Given the description of an element on the screen output the (x, y) to click on. 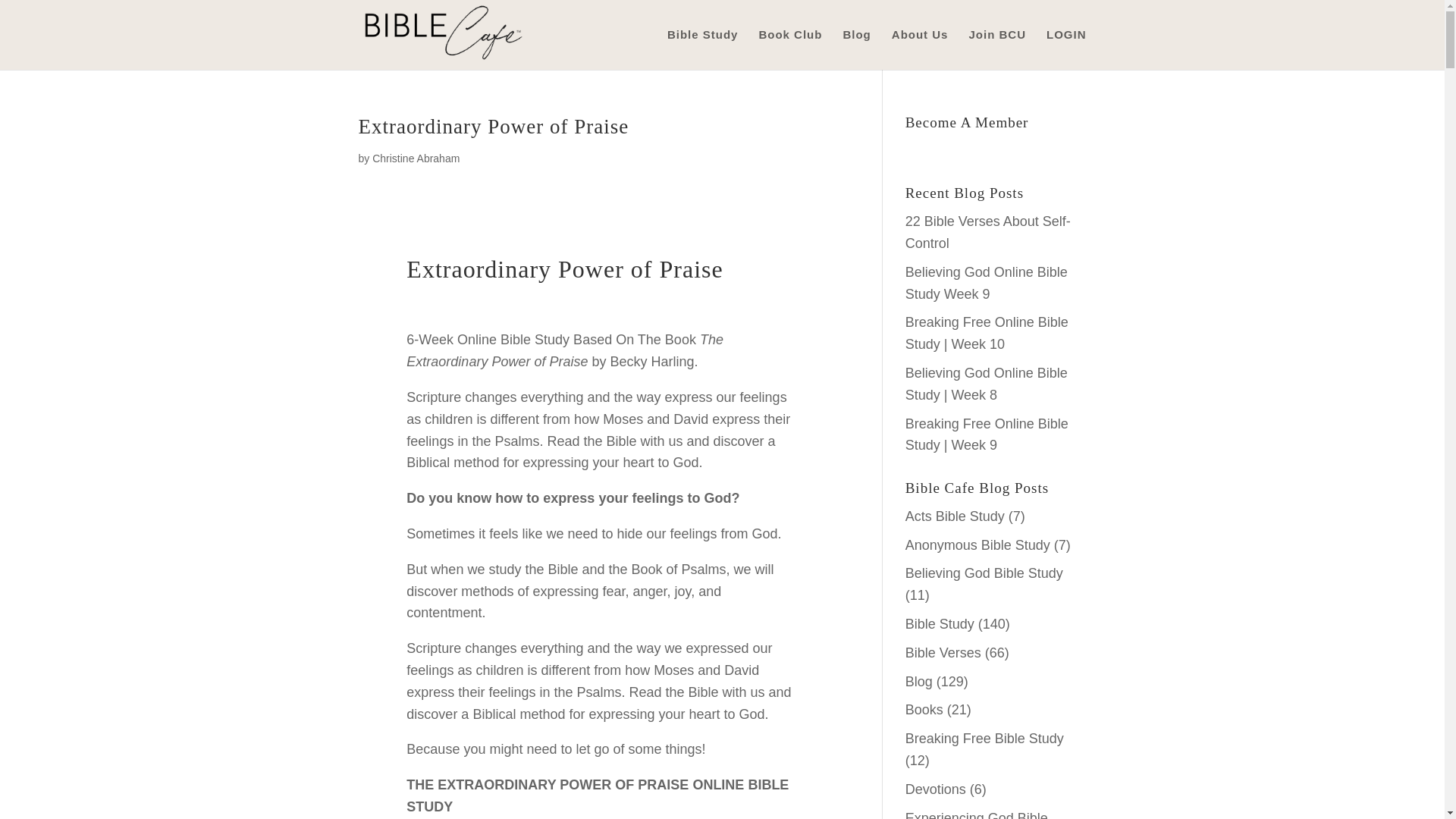
Anonymous Bible Study (977, 544)
Books (924, 709)
Blog (919, 681)
Join BCU (997, 49)
Bible Study (939, 623)
22 Bible Verses About Self-Control (987, 231)
About Us (920, 49)
Christine Abraham (416, 158)
Devotions (935, 789)
Extraordinary Power of Praise (493, 126)
Experiencing God Bible Study (976, 814)
Bible Study (702, 49)
LOGIN (1066, 49)
Acts Bible Study (954, 516)
Breaking Free Bible Study (984, 738)
